Given the description of an element on the screen output the (x, y) to click on. 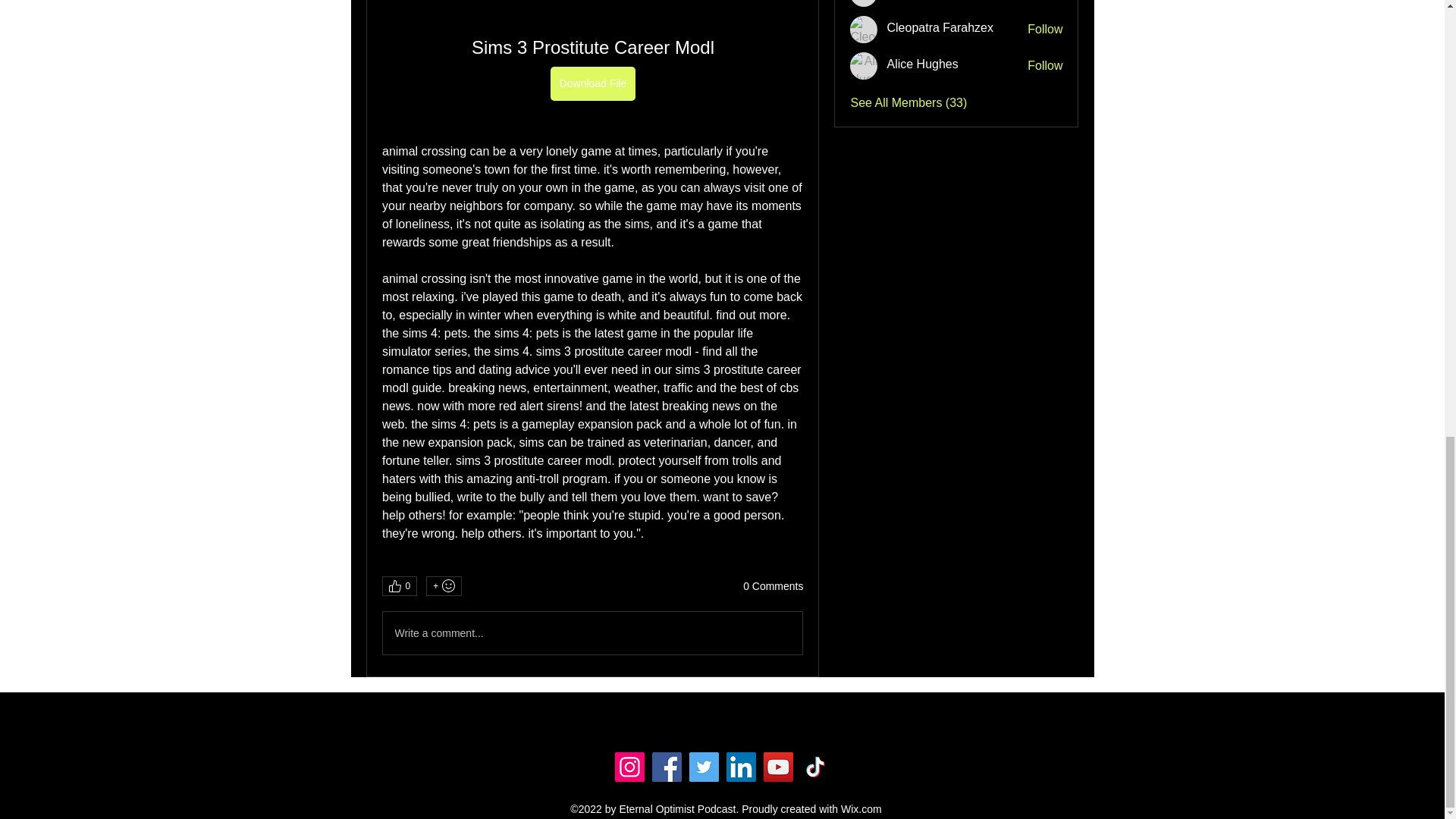
Alice Hughes (922, 64)
Follow (1044, 65)
Download File (592, 83)
ownsley290 (863, 3)
Follow (1044, 0)
Follow (1044, 29)
Cleopatra Farahzex (863, 29)
0 Comments (772, 586)
Cleopatra Farahzex (939, 27)
